Given the description of an element on the screen output the (x, y) to click on. 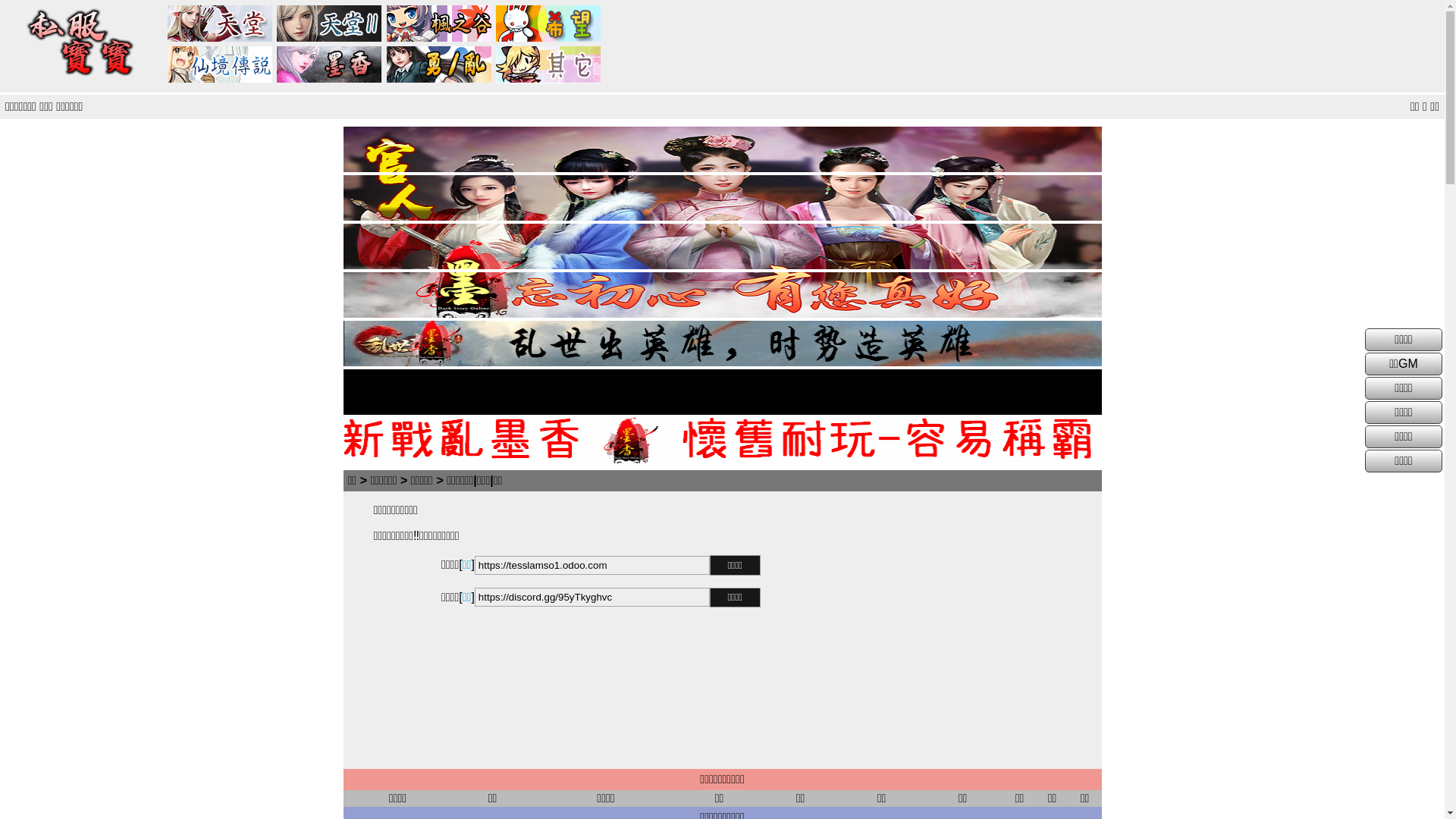
RO Element type: text (220, 65)
Advertisement Element type: hover (930, 629)
